Given the description of an element on the screen output the (x, y) to click on. 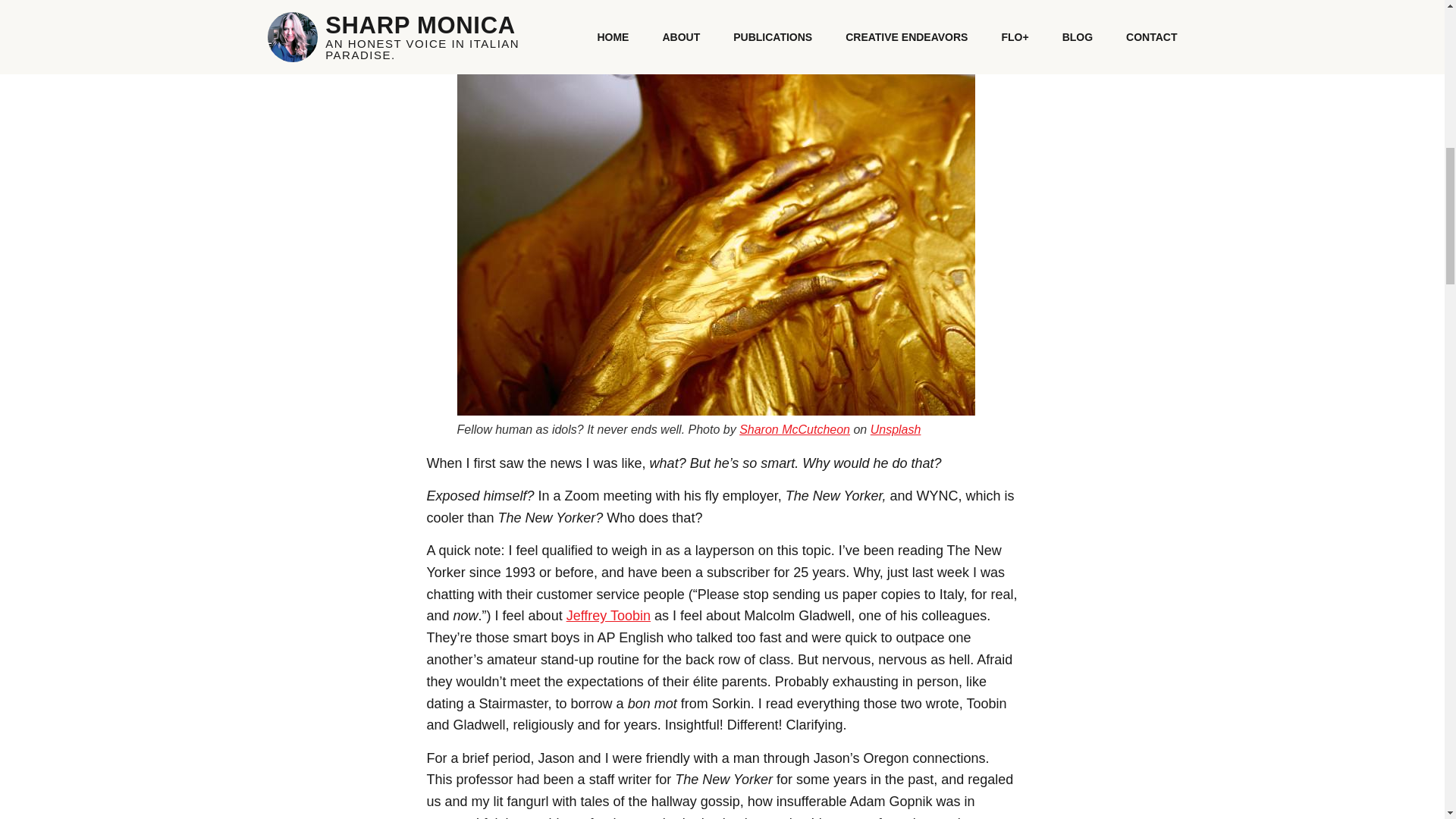
Sharon McCutcheon (794, 429)
Jeffrey Toobin (608, 615)
Unsplash (895, 429)
